Given the description of an element on the screen output the (x, y) to click on. 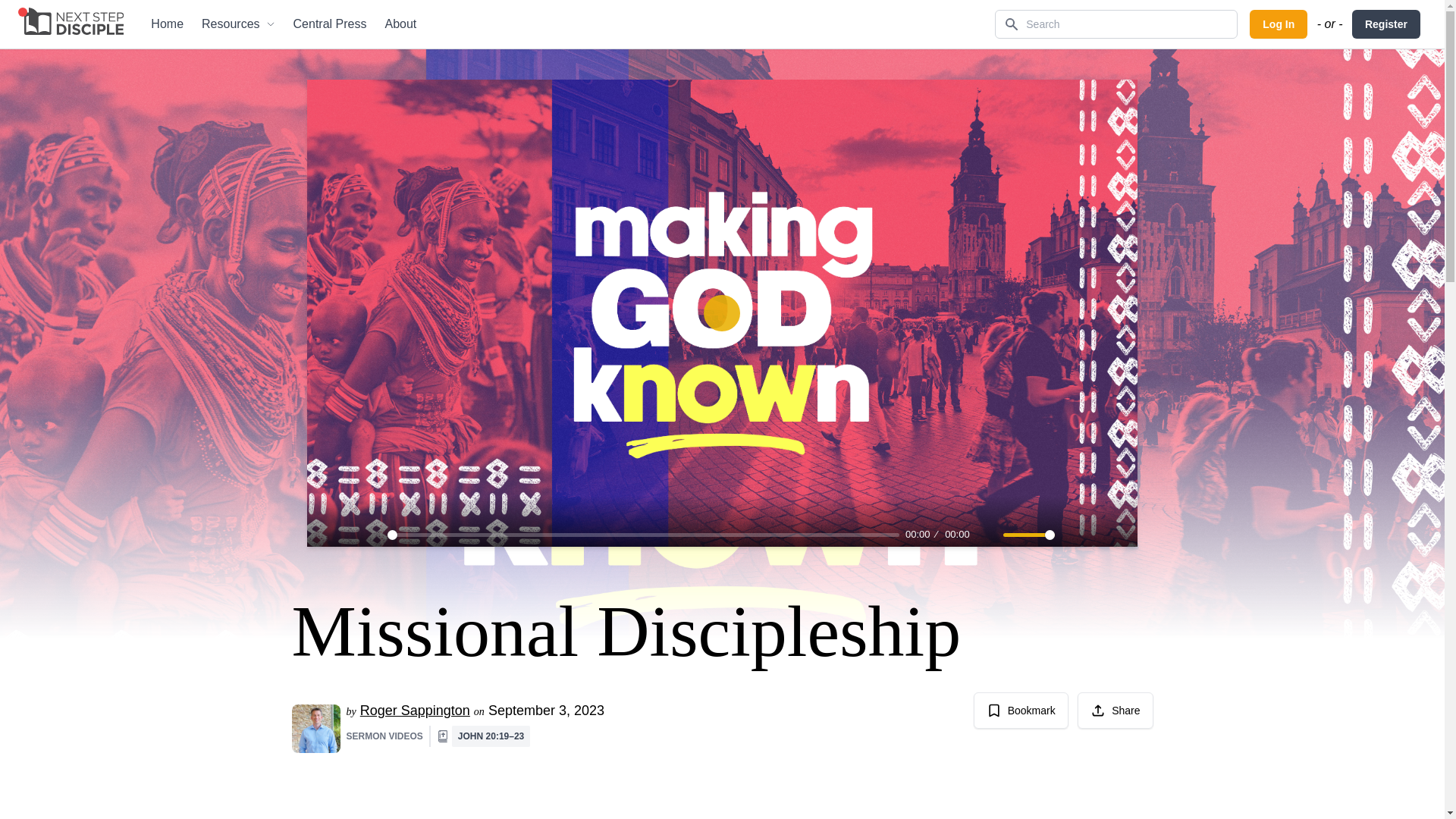
Roger Sappington (414, 710)
Play (345, 534)
Home (166, 23)
Settings (1072, 534)
Bookmark (1021, 710)
Play (721, 312)
You are currently offline. (22, 11)
PIP (1098, 534)
About (400, 23)
1 (1028, 534)
Register (1386, 23)
Rewind 10s (319, 534)
Log In (1278, 23)
0 (643, 534)
Forward 10s (371, 534)
